Given the description of an element on the screen output the (x, y) to click on. 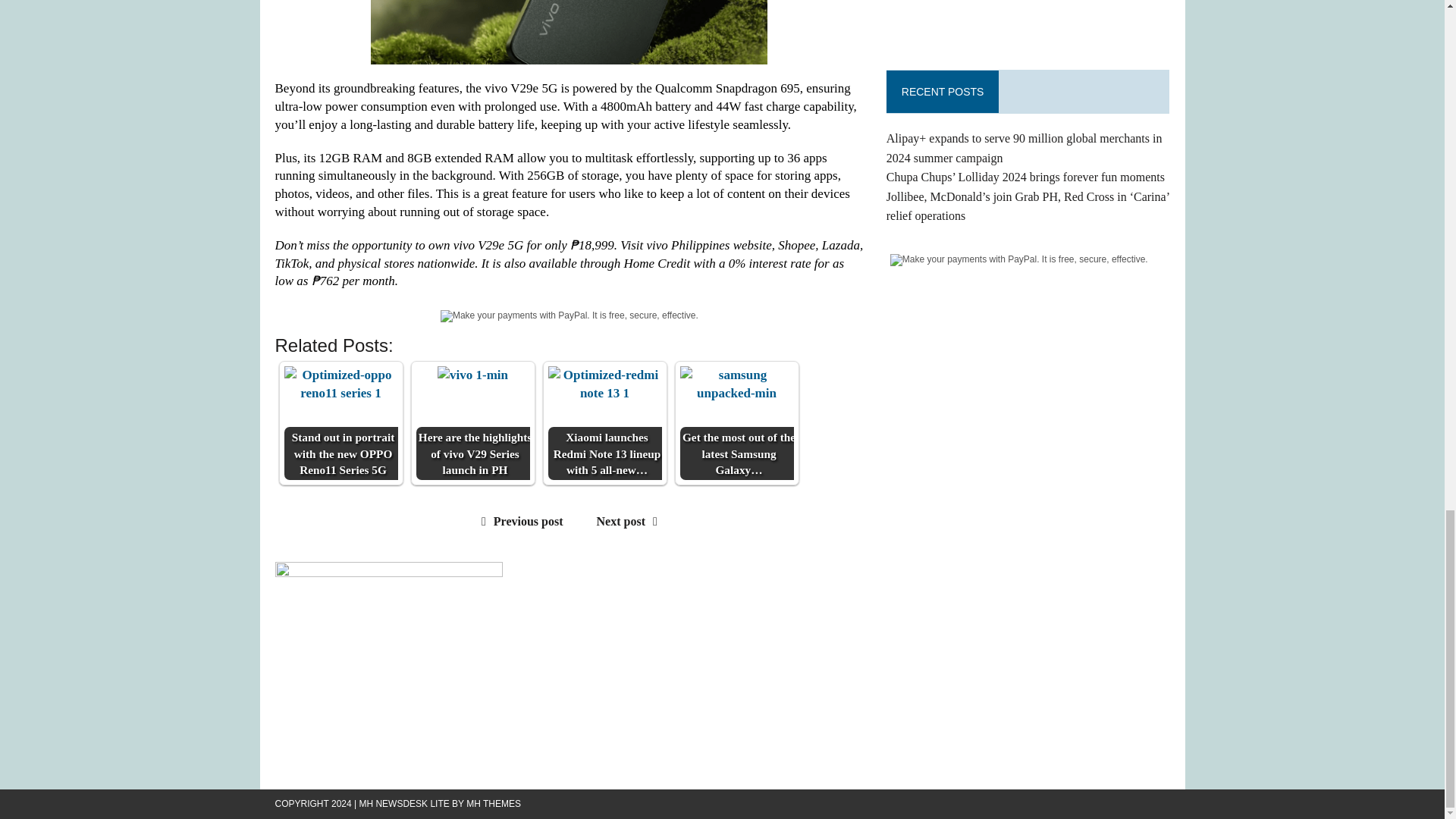
MH THEMES (493, 803)
Next post (630, 521)
Stand out in portrait with the new OPPO Reno11 Series 5G (340, 384)
Here are the highlights of vivo V29 Series launch in PH (473, 375)
Previous post (518, 521)
Stand out in portrait with the new OPPO Reno11 Series 5G (340, 422)
Kaspersky (1028, 23)
Here are the highlights of vivo V29 Series launch in PH (471, 422)
